Given the description of an element on the screen output the (x, y) to click on. 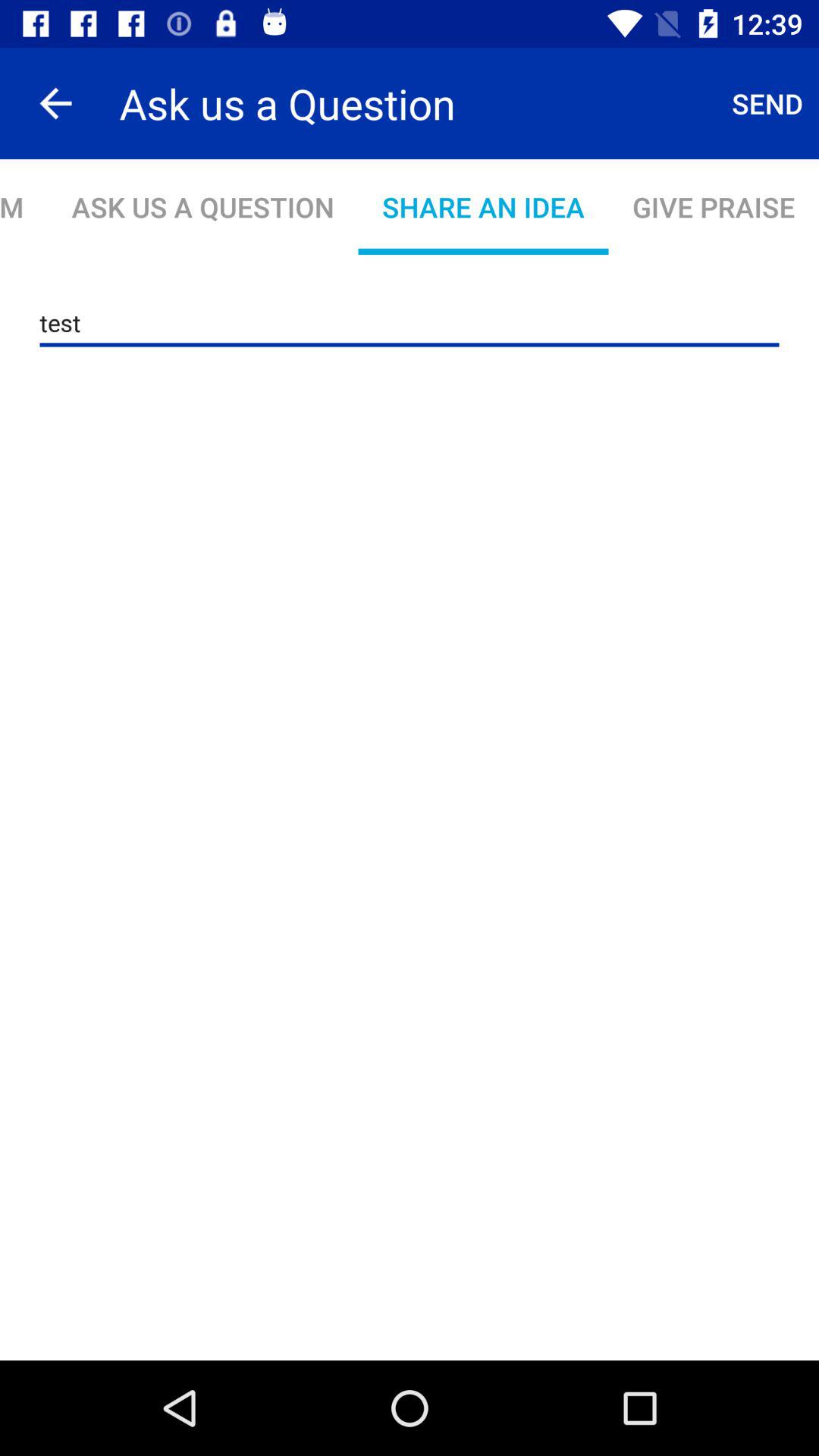
click the send (767, 103)
